Given the description of an element on the screen output the (x, y) to click on. 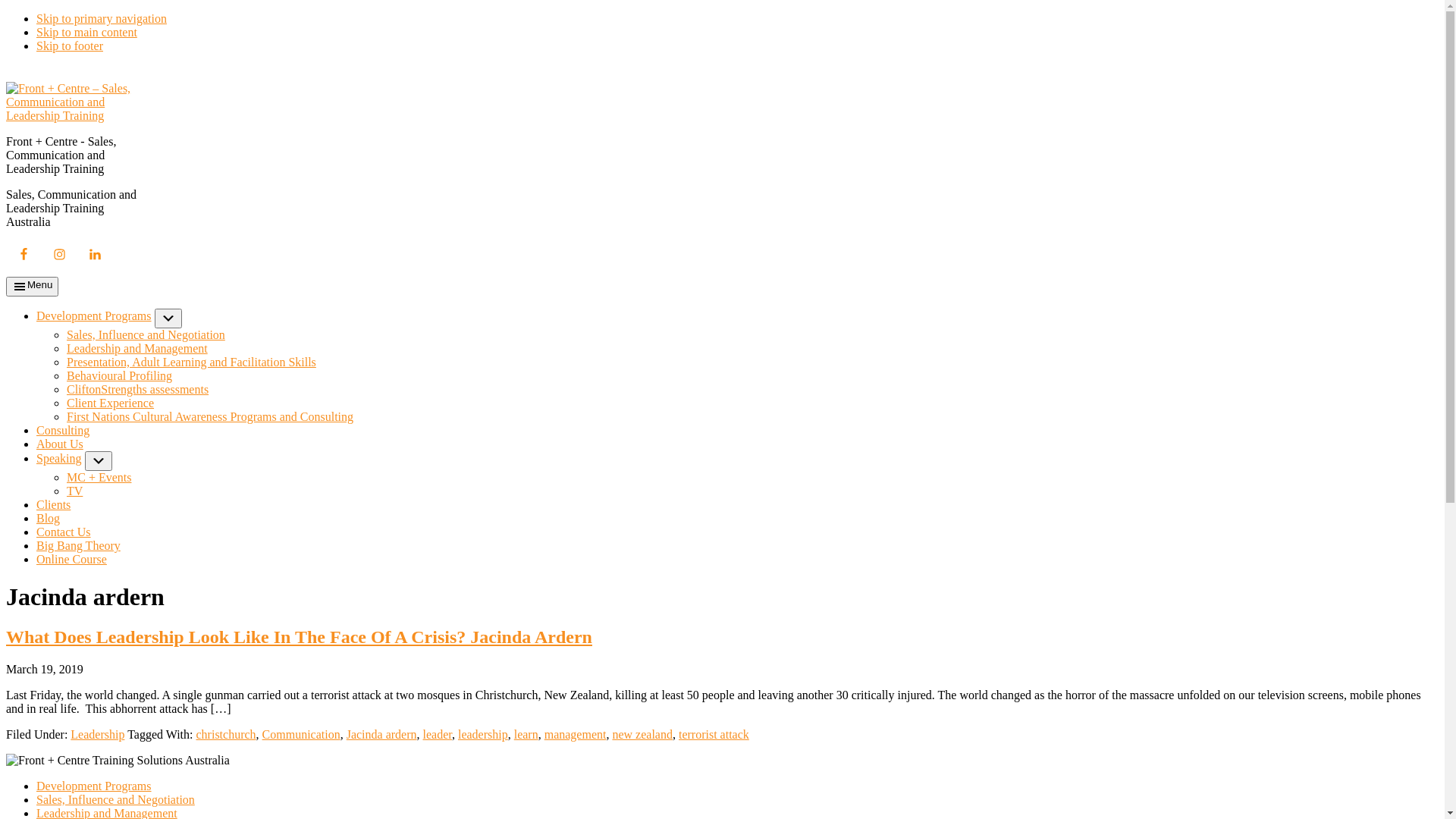
Skip to main content Element type: text (86, 31)
Skip to primary navigation Element type: text (101, 18)
Submenu Element type: text (98, 460)
management Element type: text (575, 734)
leadership Element type: text (483, 734)
learn Element type: text (526, 734)
terrorist attack Element type: text (713, 734)
Sales, Influence and Negotiation Element type: text (115, 799)
leader Element type: text (437, 734)
Blog Element type: text (47, 517)
Development Programs Element type: text (93, 785)
Leadership Element type: text (97, 734)
First Nations Cultural Awareness Programs and Consulting Element type: text (209, 416)
Skip to footer Element type: text (69, 45)
Presentation, Adult Learning and Facilitation Skills Element type: text (191, 361)
Client Experience Element type: text (109, 402)
Leadership and Management Element type: text (136, 348)
MC + Events Element type: text (98, 476)
Communication Element type: text (301, 734)
Submenu Element type: text (168, 318)
CliftonStrengths assessments Element type: text (137, 388)
Big Bang Theory Element type: text (78, 545)
Online Course Element type: text (71, 558)
Consulting Element type: text (62, 429)
About Us Element type: text (59, 443)
christchurch Element type: text (225, 734)
Jacinda ardern Element type: text (381, 734)
new zealand Element type: text (641, 734)
Behavioural Profiling Element type: text (119, 375)
Clients Element type: text (53, 504)
Development Programs Element type: text (93, 315)
TV Element type: text (74, 490)
Menu Element type: text (32, 286)
Contact Us Element type: text (63, 531)
Sales, Influence and Negotiation Element type: text (145, 334)
Speaking Element type: text (58, 457)
